Given the description of an element on the screen output the (x, y) to click on. 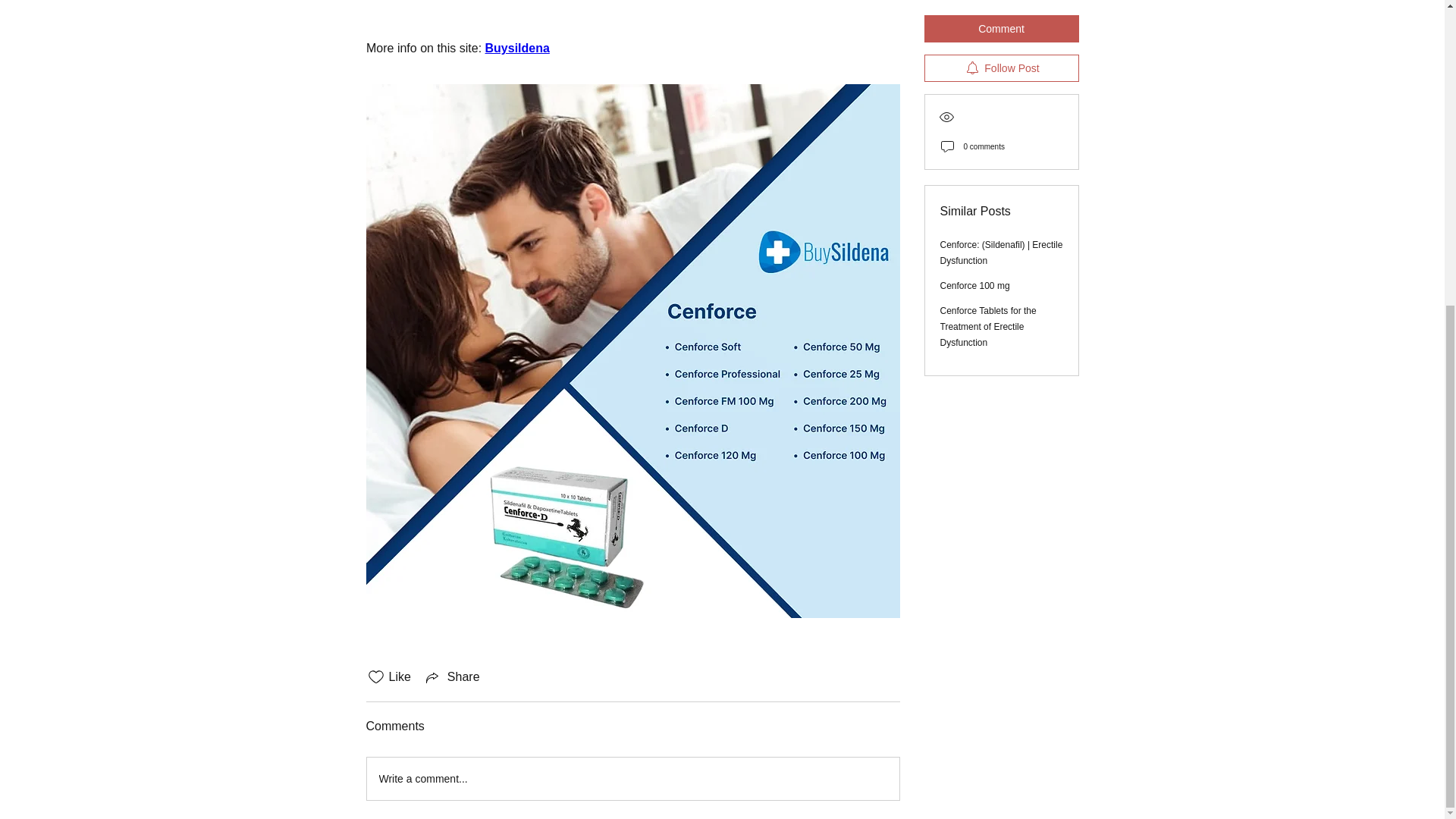
Share (451, 677)
Write a comment... (632, 778)
Buysildena (516, 47)
